Given the description of an element on the screen output the (x, y) to click on. 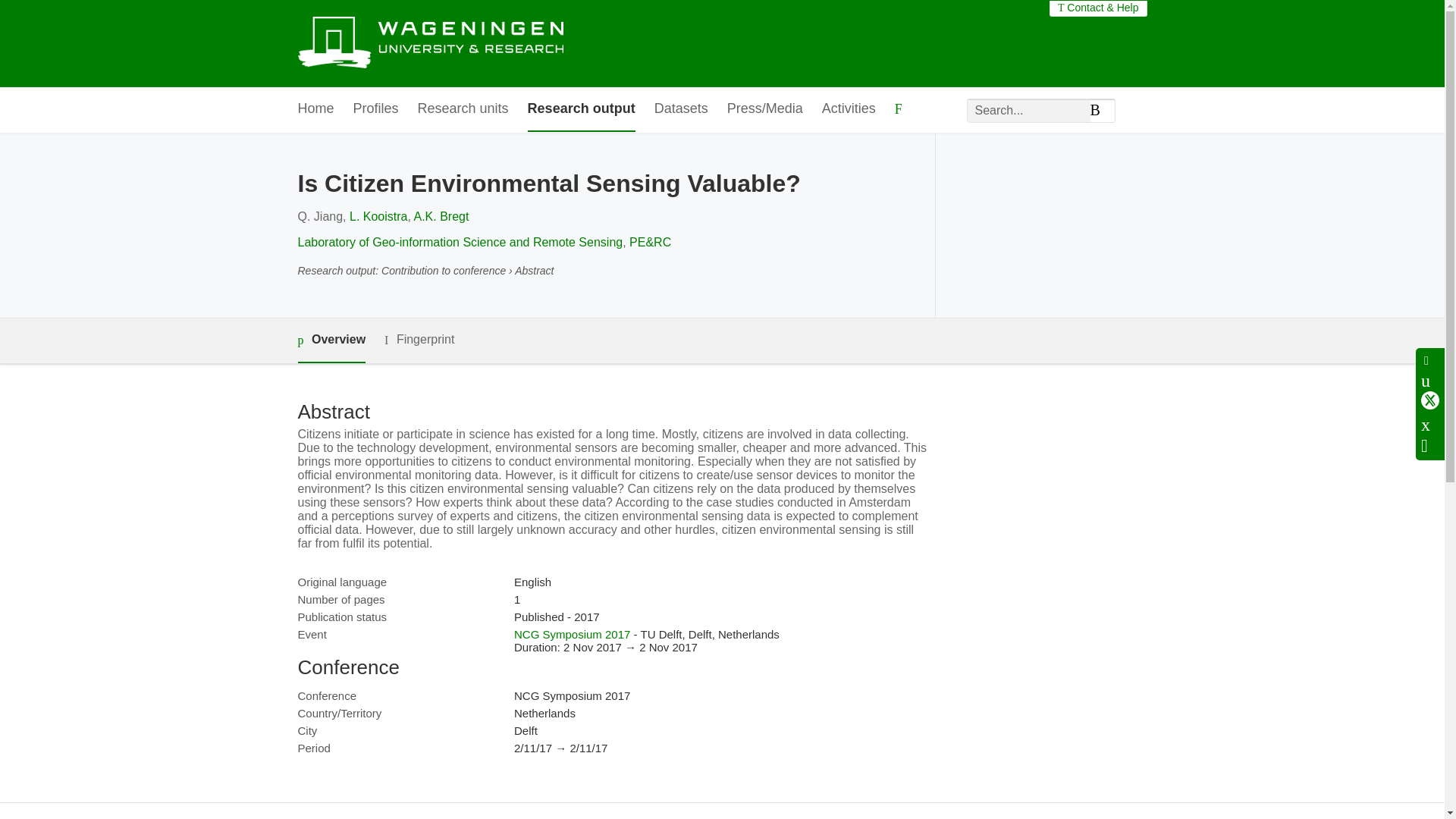
Overview (331, 340)
Profiles (375, 108)
NCG Symposium 2017 (571, 634)
Research units (462, 108)
Datasets (680, 108)
Activities (849, 108)
Fingerprint (419, 339)
A.K. Bregt (440, 215)
Research output (580, 108)
